Given the description of an element on the screen output the (x, y) to click on. 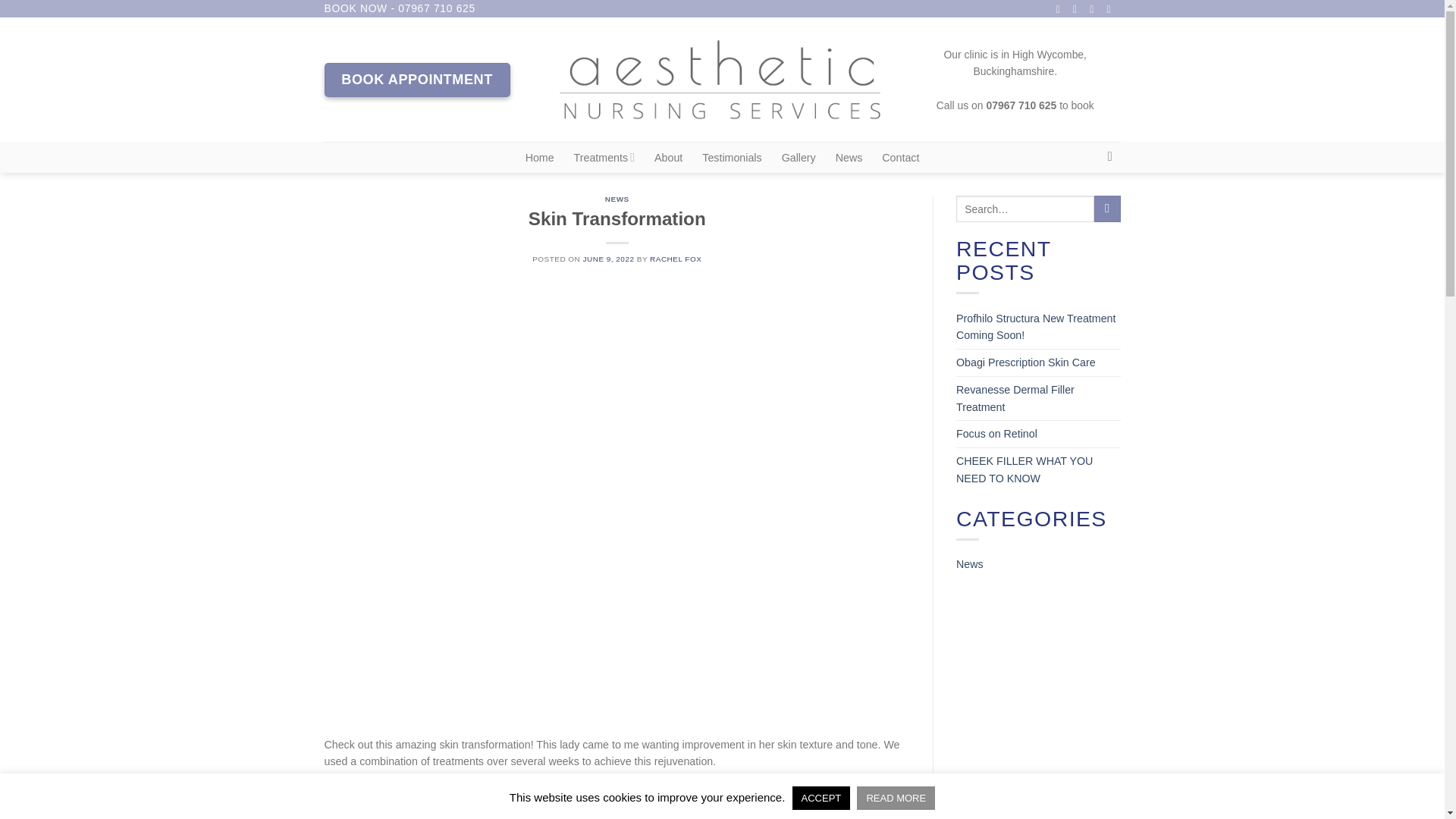
JUNE 9, 2022 (608, 258)
Home (539, 157)
Treatments (603, 156)
Contact (900, 157)
Gallery (798, 157)
About (667, 157)
BOOK APPOINTMENT (417, 80)
News (849, 157)
